Given the description of an element on the screen output the (x, y) to click on. 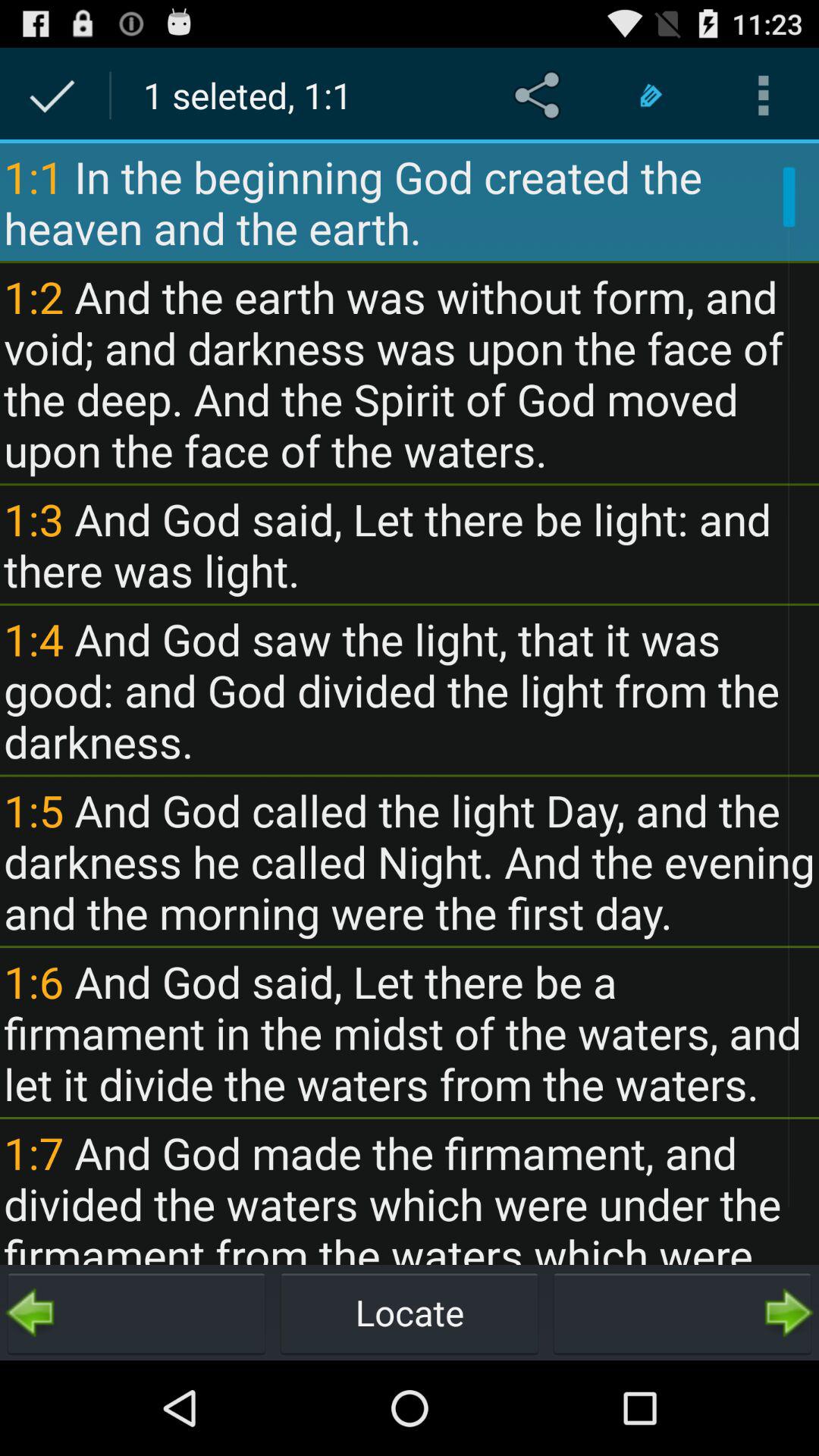
select the item above 1 1 in (540, 95)
